Given the description of an element on the screen output the (x, y) to click on. 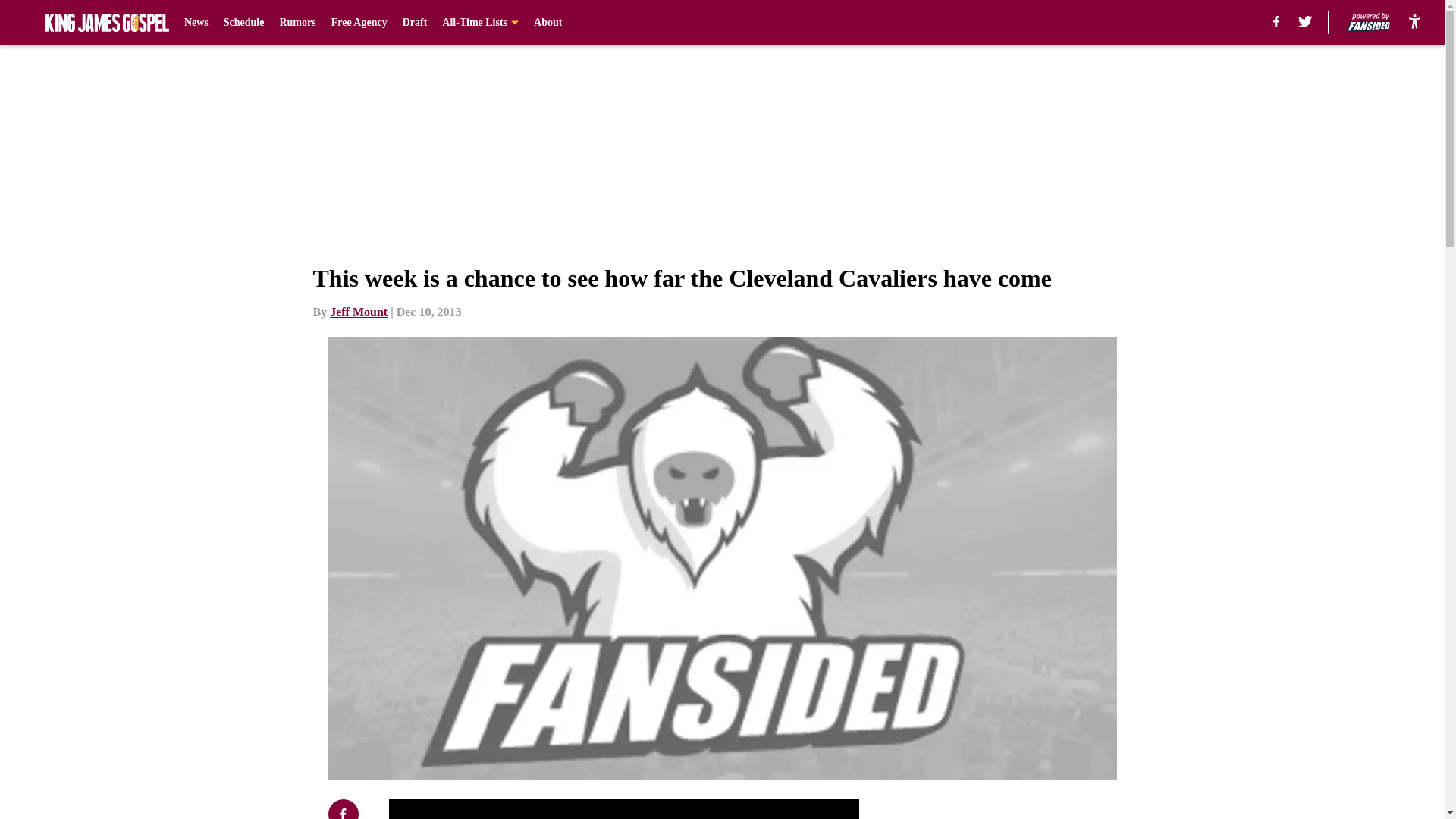
Schedule (244, 22)
About (548, 22)
All-Time Lists (480, 22)
Free Agency (359, 22)
Rumors (297, 22)
News (196, 22)
Jeff Mount (358, 311)
Draft (415, 22)
